Given the description of an element on the screen output the (x, y) to click on. 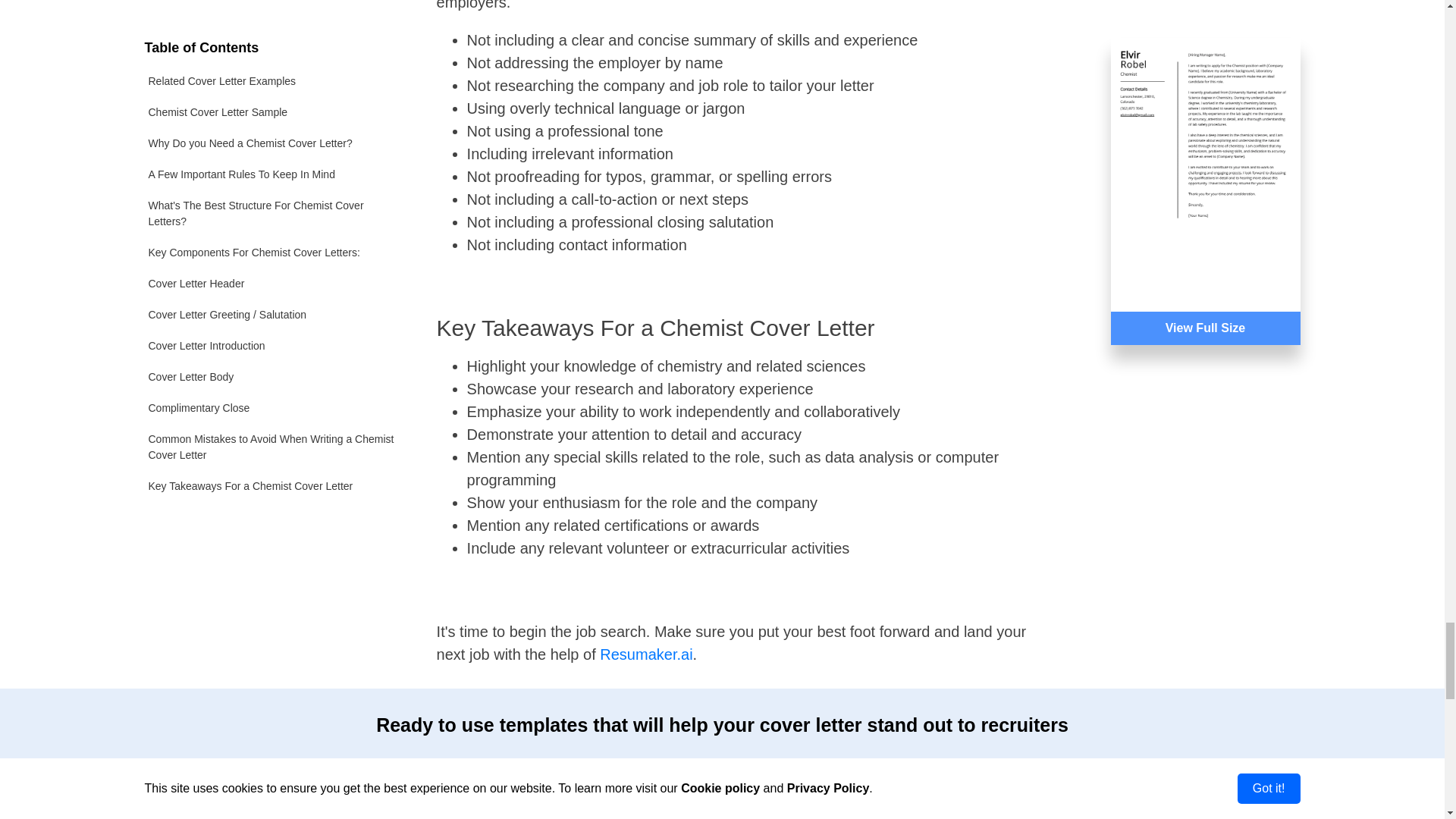
Resumaker.ai (646, 654)
